Given the description of an element on the screen output the (x, y) to click on. 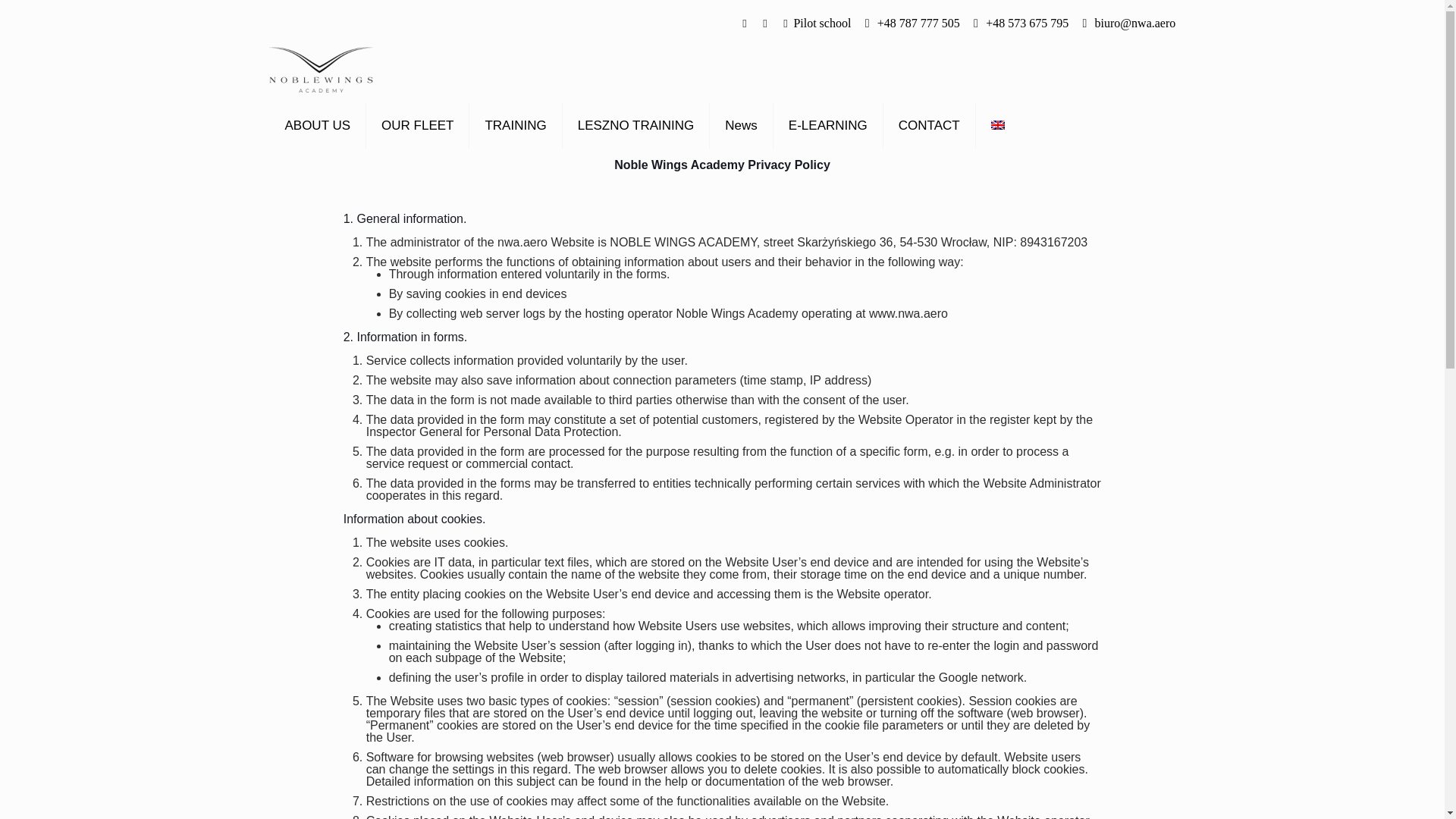
nwa.aero (522, 241)
OUR FLEET (417, 125)
Facebook (744, 23)
News (741, 125)
CONTACT (929, 125)
LESZNO TRAINING (636, 125)
TRAINING (515, 125)
E-LEARNING (828, 125)
Instagram (785, 23)
ABOUT US (317, 125)
LinkedIn (765, 23)
